Given the description of an element on the screen output the (x, y) to click on. 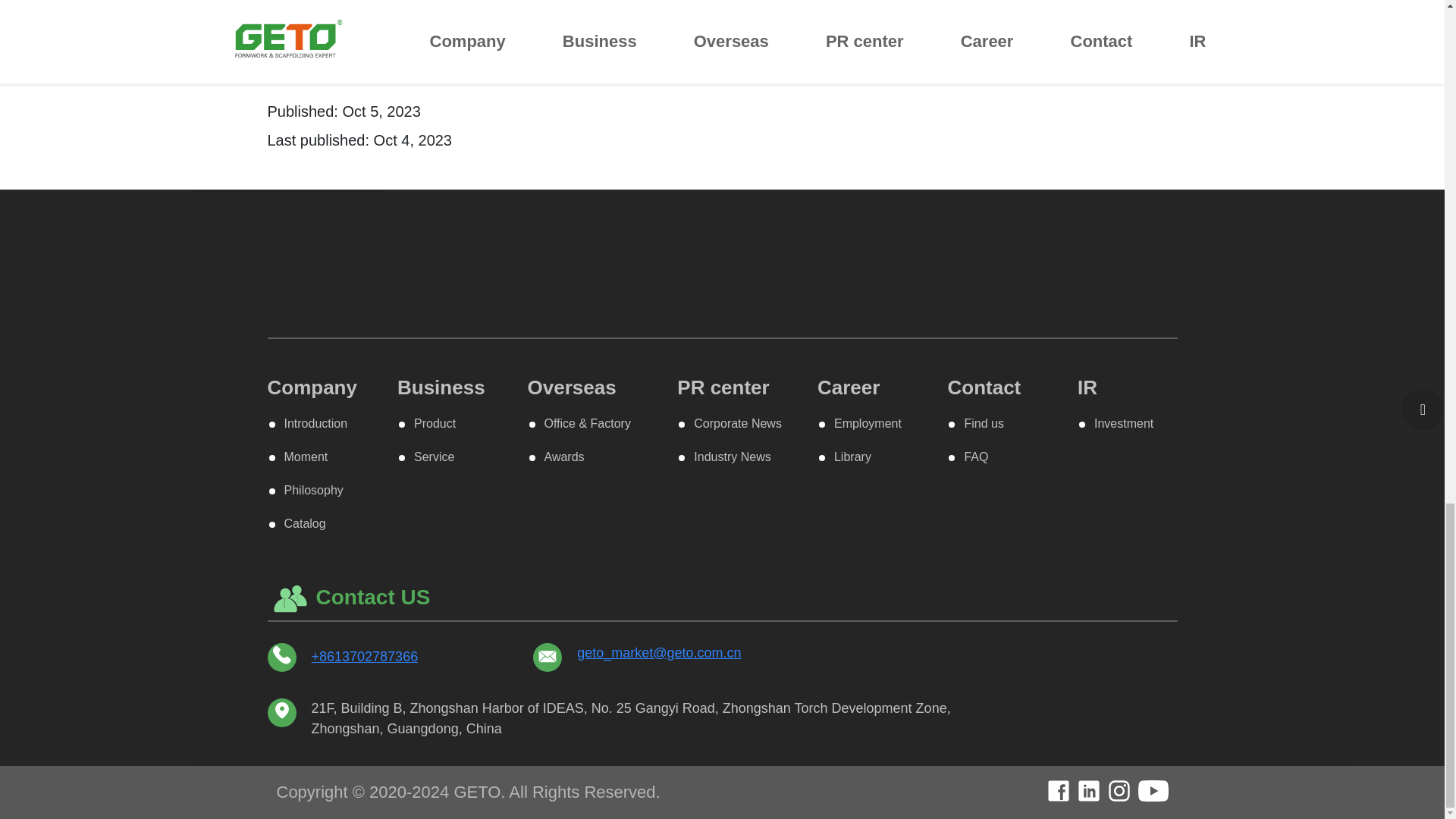
Introduction (307, 422)
Philosophy (304, 490)
Service (426, 456)
Catalog (295, 522)
Product (426, 422)
Business (440, 386)
Contact us (721, 22)
Company (311, 386)
Moment (297, 456)
